Given the description of an element on the screen output the (x, y) to click on. 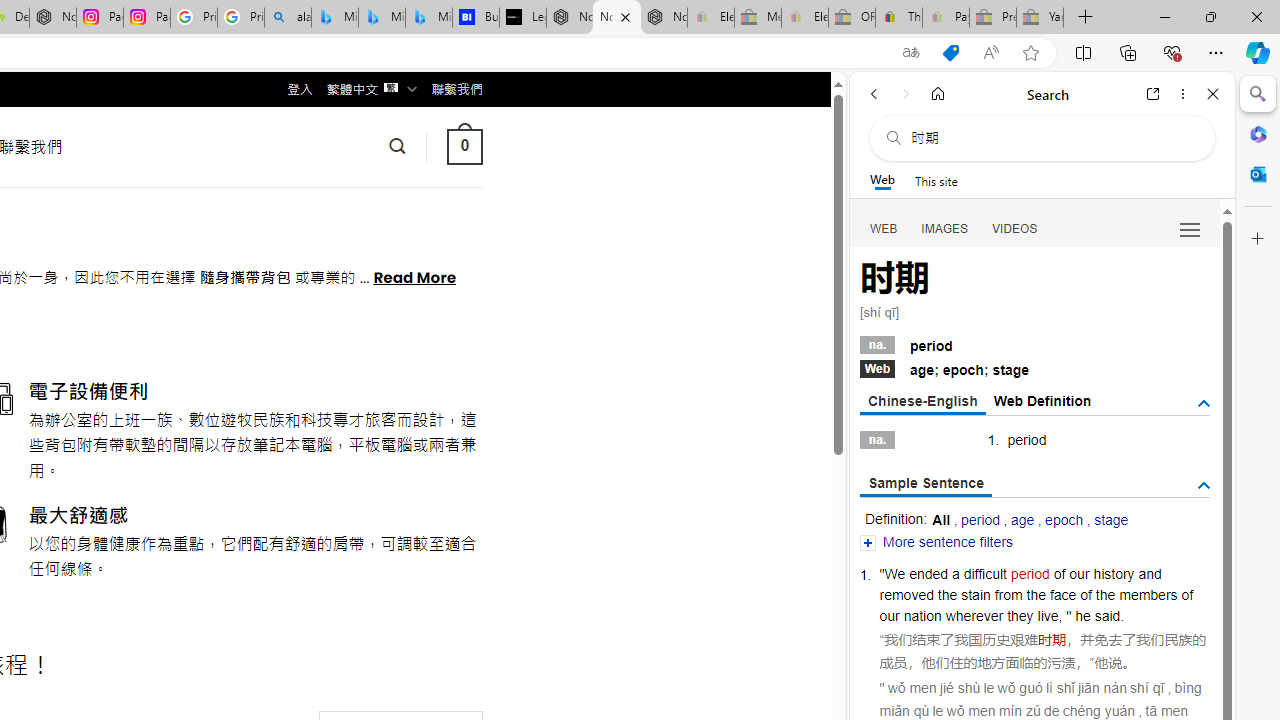
Search the web (1051, 137)
Payments Terms of Use | eBay.com - Sleeping (945, 17)
Web Definition (1042, 400)
Microsoft 365 (1258, 133)
alabama high school quarterback dies - Search (288, 17)
said (1107, 615)
Web scope (882, 180)
